Given the description of an element on the screen output the (x, y) to click on. 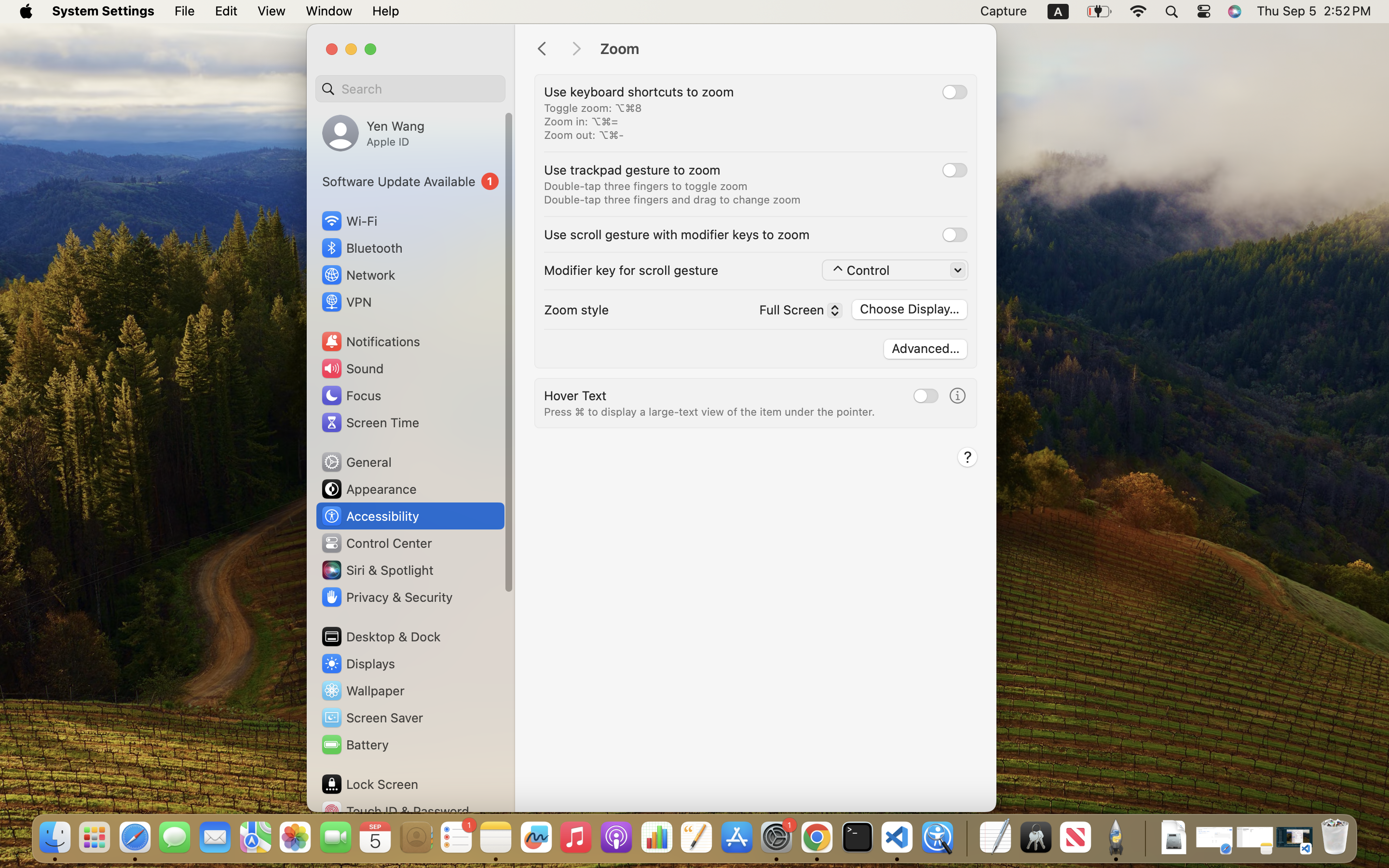
0.4285714328289032 Element type: AXDockItem (965, 837)
Double-tap three fingers to toggle zoom Element type: AXStaticText (645, 185)
Zoom Element type: AXStaticText (788, 49)
Desktop & Dock Element type: AXStaticText (380, 636)
Wallpaper Element type: AXStaticText (362, 690)
